Given the description of an element on the screen output the (x, y) to click on. 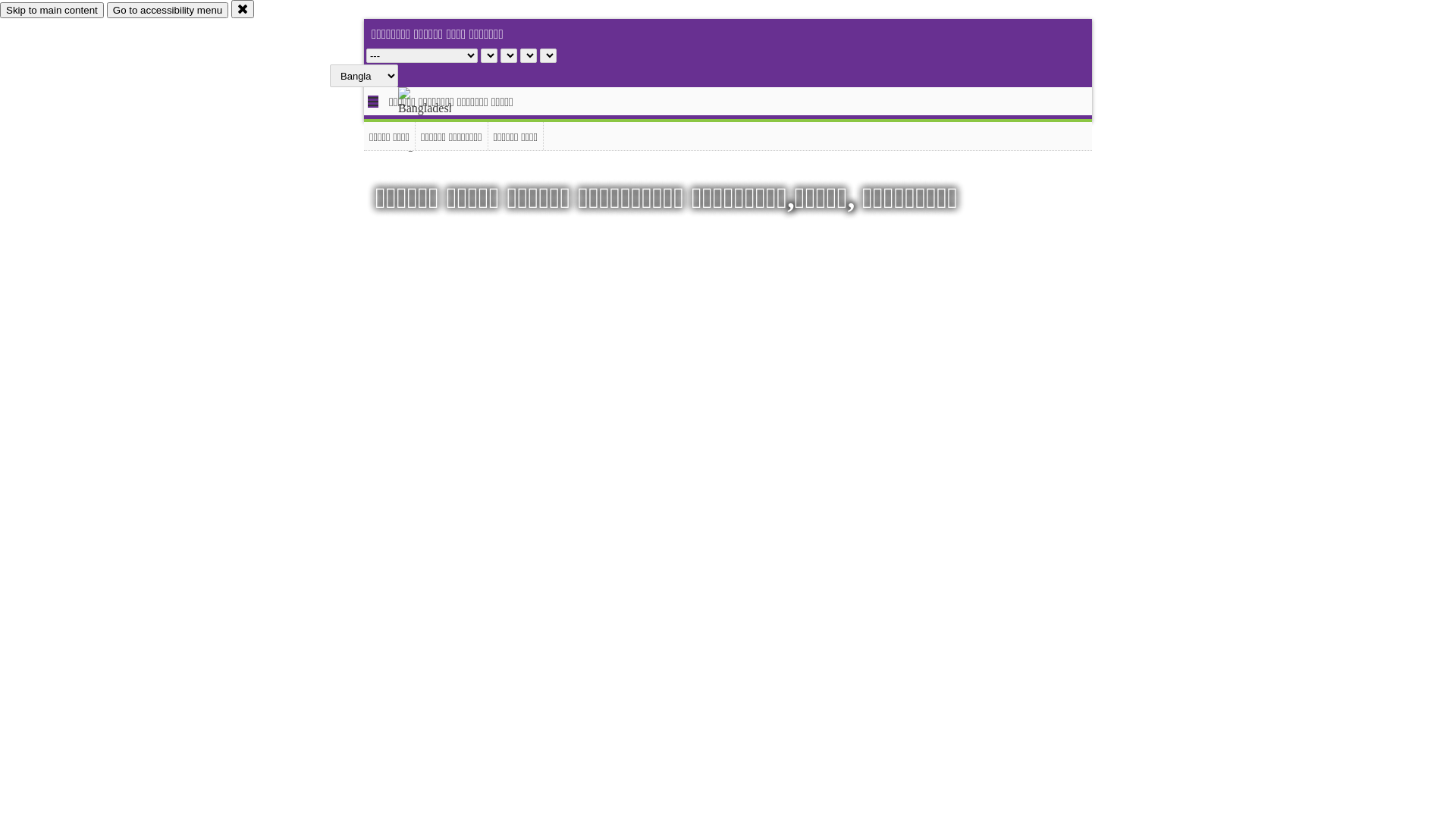
Go to accessibility menu Element type: text (167, 10)

                
             Element type: hover (437, 120)
close Element type: hover (242, 9)
Skip to main content Element type: text (51, 10)
